Given the description of an element on the screen output the (x, y) to click on. 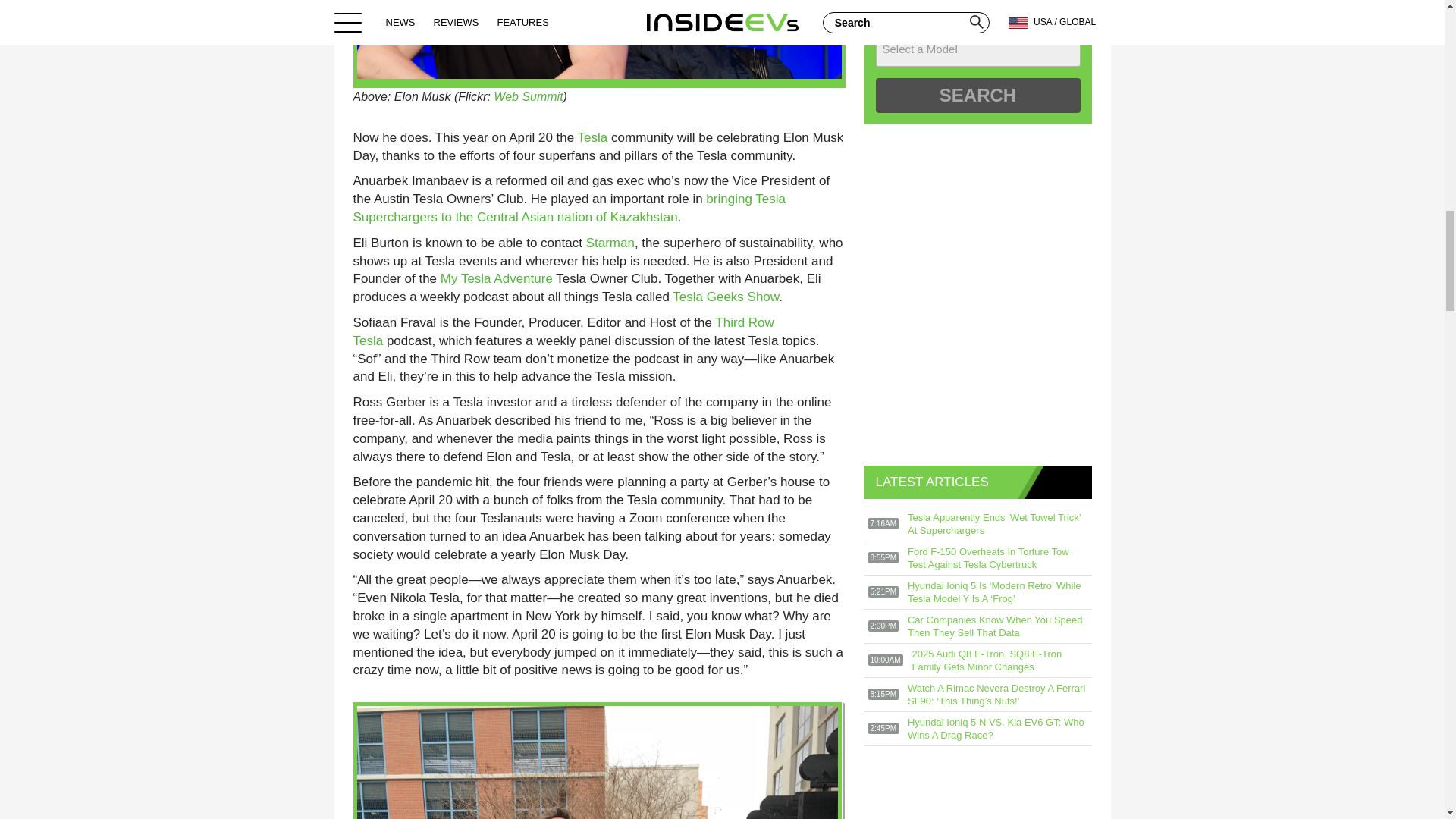
Tesla Geeks Show (725, 296)
Search (977, 95)
Tesla (593, 137)
My Tesla Adventure (497, 278)
Third Row Tesla (563, 331)
Starman (610, 242)
Web Summit (527, 96)
